Given the description of an element on the screen output the (x, y) to click on. 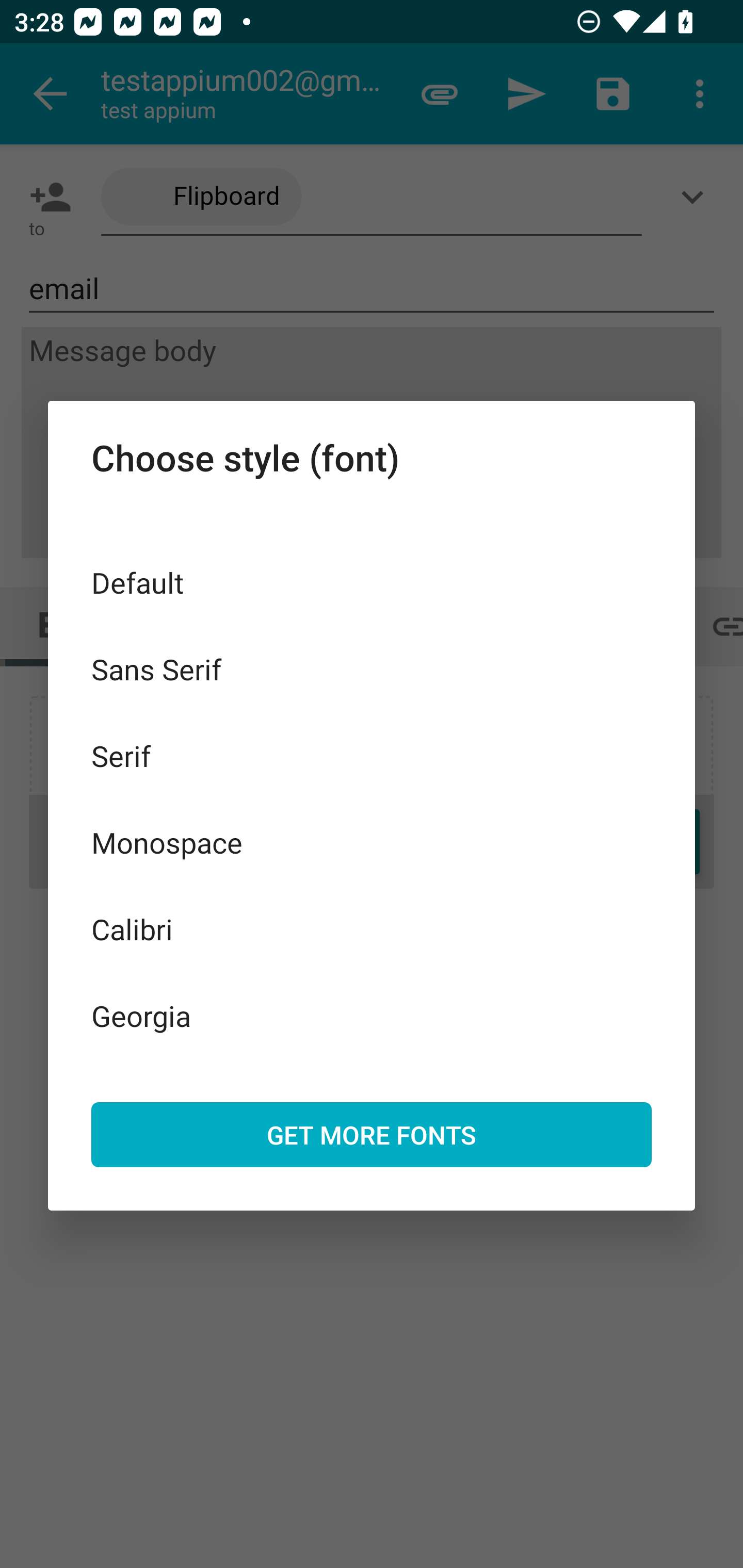
Default (371, 582)
Sans Serif (371, 668)
Serif (371, 755)
Monospace (371, 842)
Calibri (371, 928)
Georgia (371, 1015)
GET MORE FONTS (371, 1134)
